Given the description of an element on the screen output the (x, y) to click on. 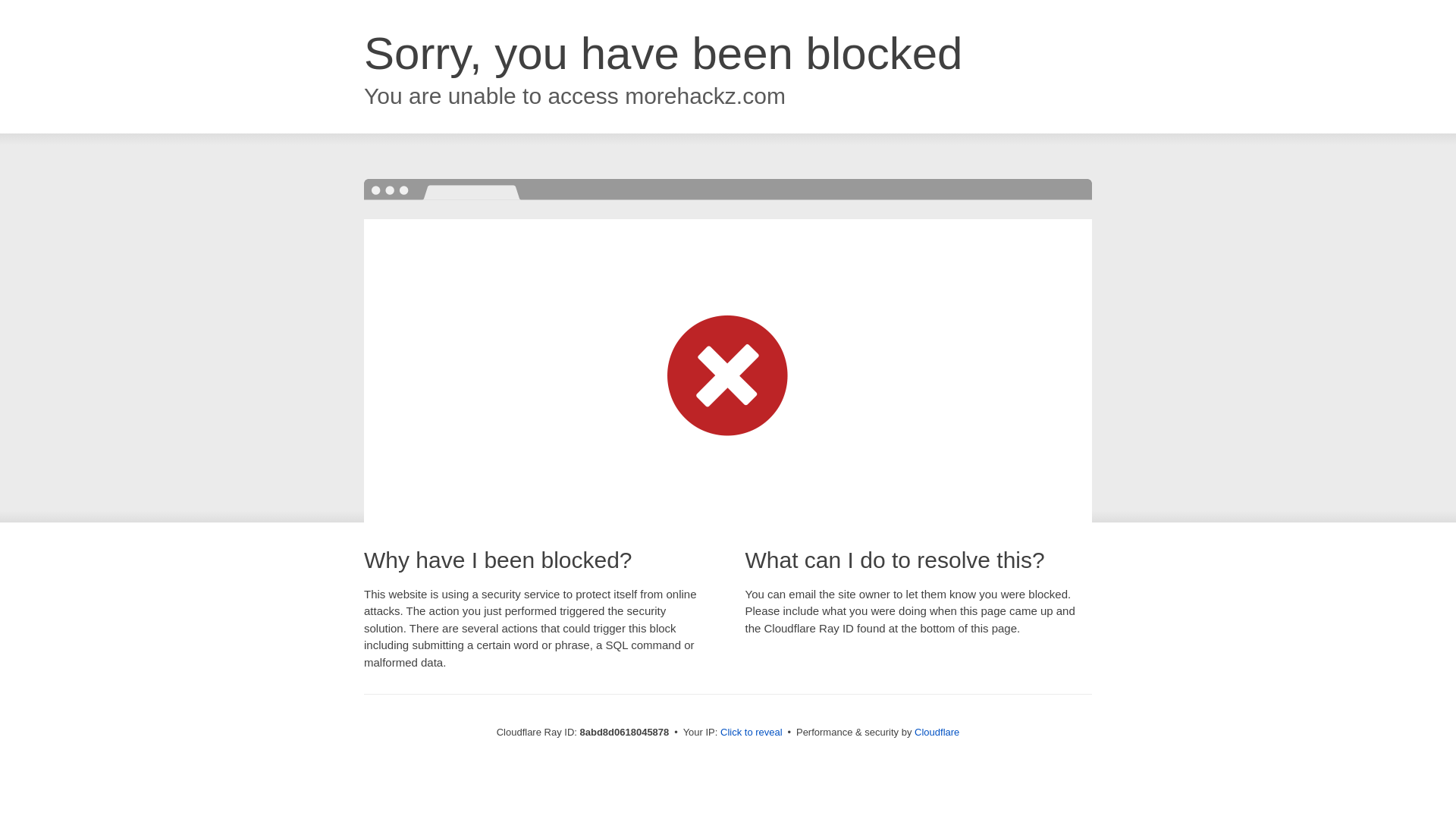
Click to reveal (751, 732)
Cloudflare (936, 731)
